Given the description of an element on the screen output the (x, y) to click on. 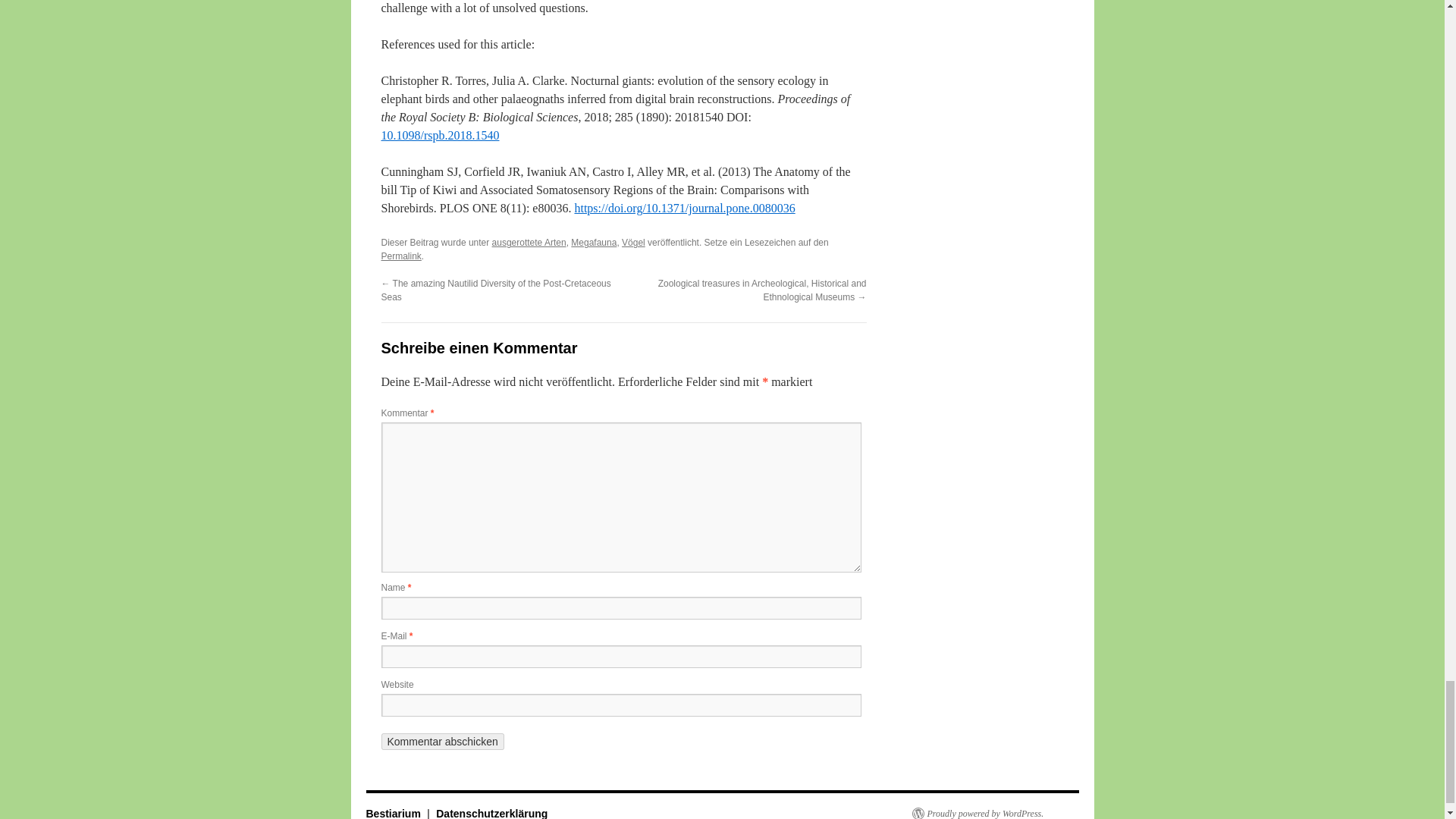
Megafauna (592, 242)
Permalink (400, 255)
Kommentar abschicken (441, 741)
Kommentar abschicken (441, 741)
ausgerottete Arten (529, 242)
